Given the description of an element on the screen output the (x, y) to click on. 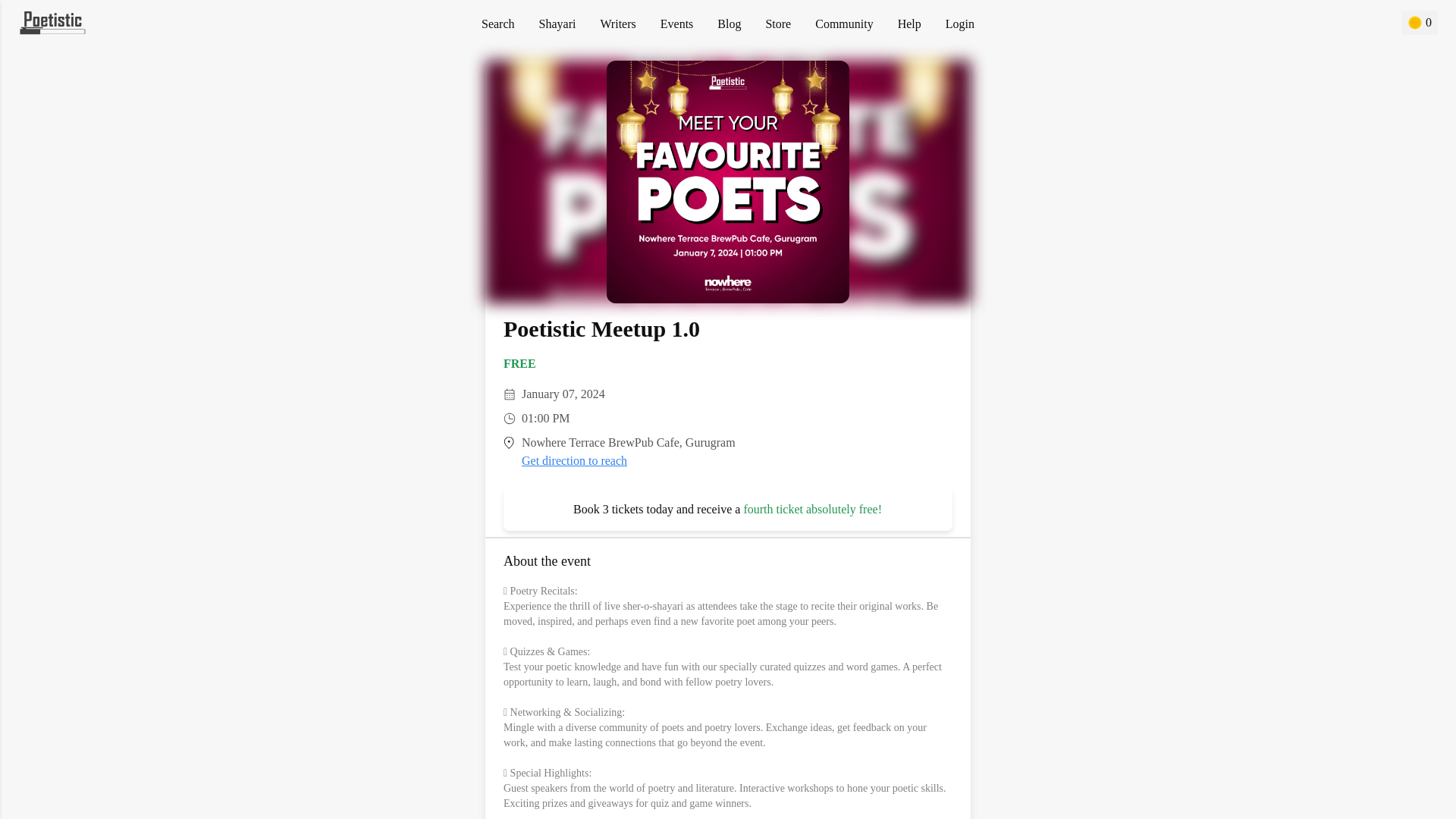
Shayari (557, 23)
Get direction to reach (574, 460)
Search (498, 23)
Blog (729, 23)
Community (843, 23)
Store (777, 23)
Nowhere Terrace BrewPub Cafe, Gurugram (628, 441)
Events (677, 23)
Writers (616, 23)
Help (909, 23)
